Given the description of an element on the screen output the (x, y) to click on. 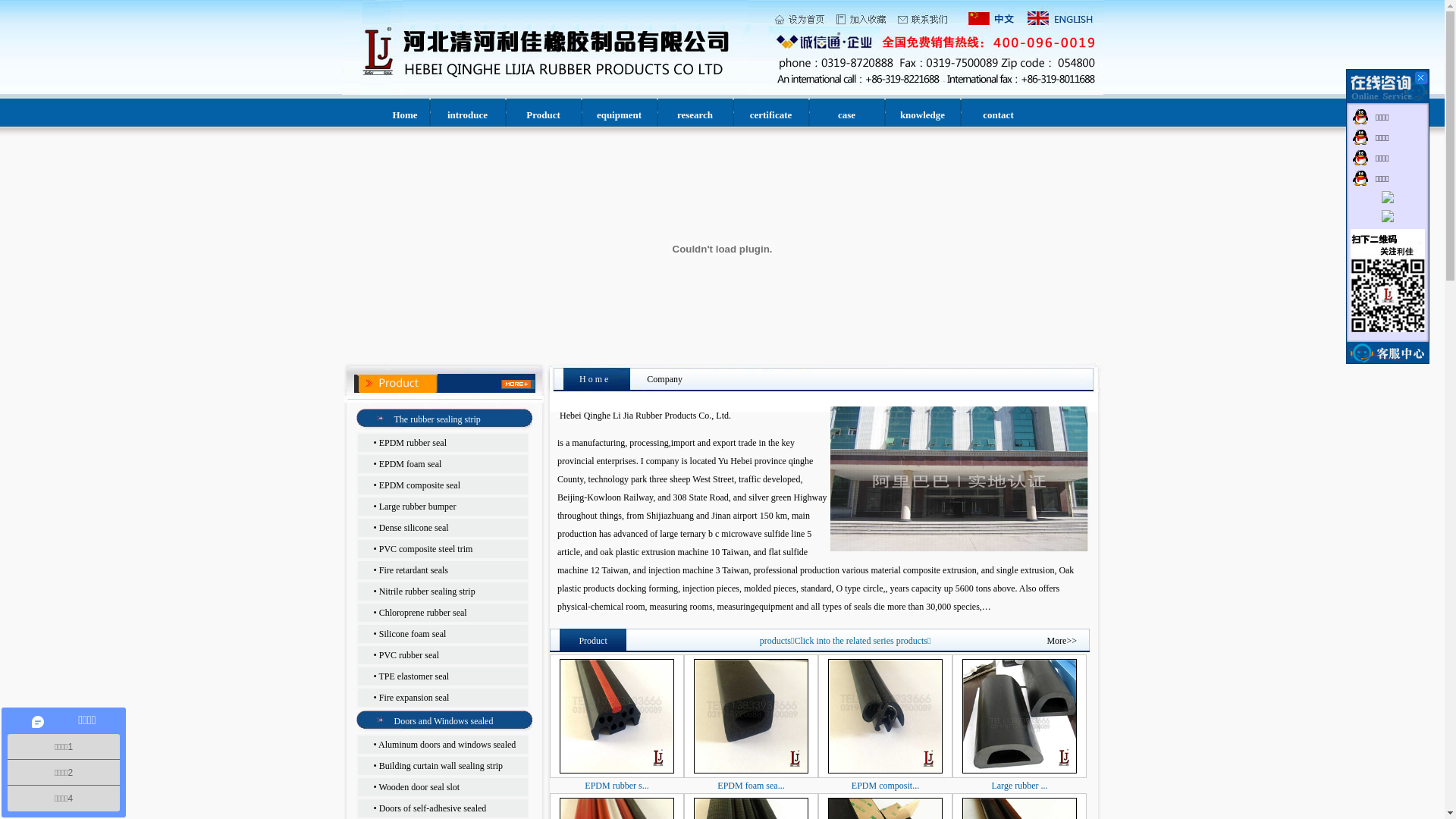
Large rubber ... Element type: text (1019, 785)
Fire retardant seals Element type: text (413, 569)
Doors and Windows sealed Element type: text (443, 720)
PVC composite steel trim Element type: text (426, 548)
EPDM foam seal Element type: text (410, 463)
Product Element type: text (543, 114)
introduce Element type: text (467, 114)
More>> Element type: text (1061, 640)
knowledge Element type: text (922, 114)
Wooden door seal slot Element type: text (418, 786)
EPDM composite seal Element type: text (419, 485)
research Element type: text (694, 114)
EPDM foam sea... Element type: text (750, 785)
Home Element type: text (404, 114)
case Element type: text (846, 114)
333.jpg Element type: hover (959, 478)
Large rubber bumper Element type: text (417, 506)
EPDM composit... Element type: text (885, 785)
Silicone foam seal Element type: text (412, 633)
TPE elastomer seal Element type: text (413, 676)
PVC rubber seal Element type: text (409, 654)
contact Element type: text (997, 114)
 Hebei Qinghe Li Jia Rubber Products Co., Ltd.  Element type: text (822, 415)
Doors of self-adhesive sealed Element type: text (432, 808)
Building curtain wall sealing strip Element type: text (440, 765)
H o m e Element type: text (593, 378)
Fire expansion seal Element type: text (414, 697)
Chloroprene rubber seal Element type: text (423, 612)
Aluminum doors and windows sealed Element type: text (446, 744)
EPDM rubber s... Element type: text (616, 785)
certificate Element type: text (770, 114)
Nitrile rubber sealing strip Element type: text (427, 591)
Dense silicone seal Element type: text (413, 527)
EPDM rubber seal Element type: text (412, 442)
equipment Element type: text (618, 114)
The rubber sealing strip Element type: text (437, 419)
